Given the description of an element on the screen output the (x, y) to click on. 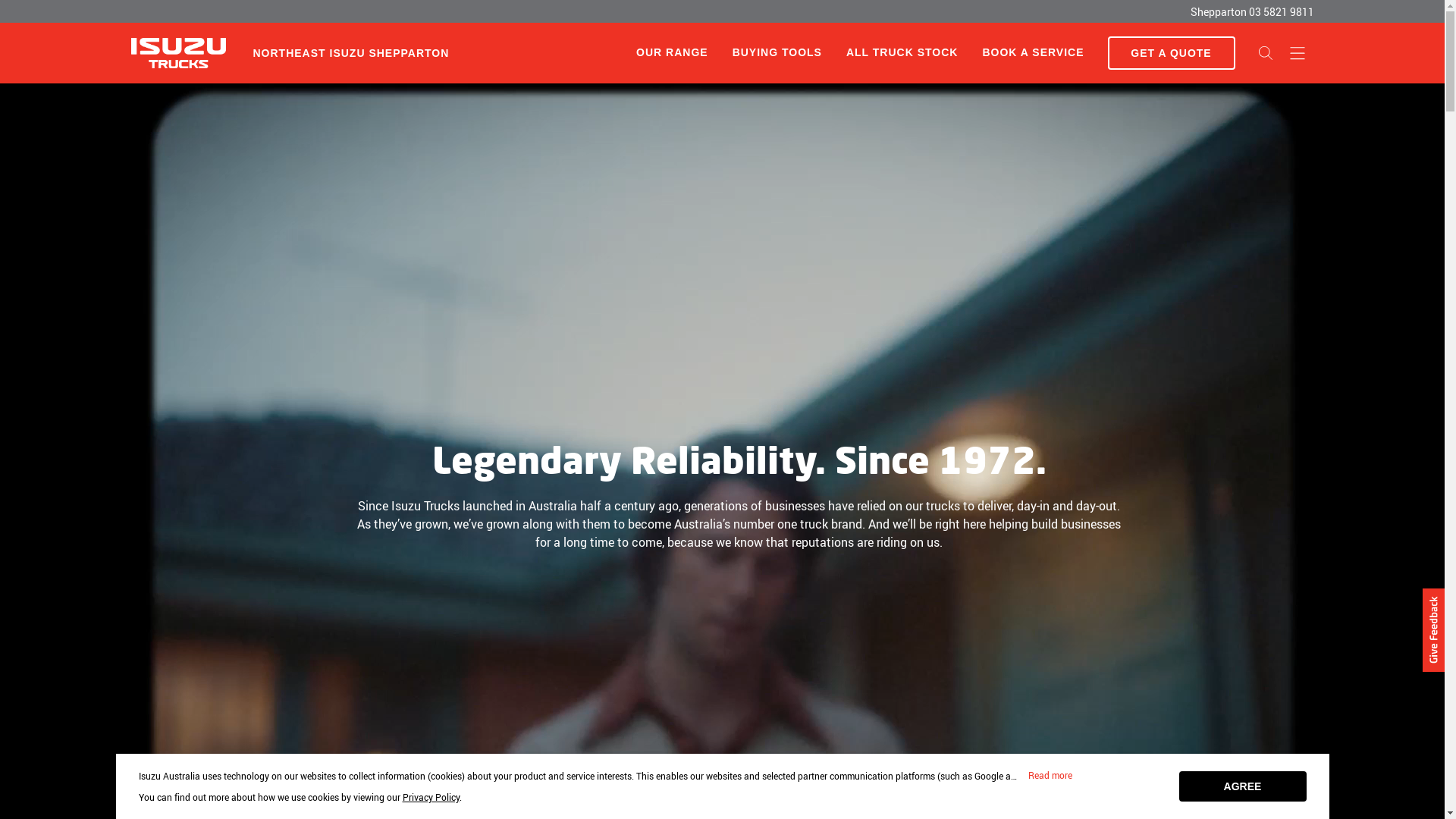
Privacy Policy Element type: text (429, 796)
BUYING TOOLS Element type: text (777, 52)
03 5821 9811 Element type: text (1280, 11)
AGREE Element type: text (1241, 786)
Read more Element type: text (1049, 775)
ALL TRUCK STOCK Element type: text (901, 52)
OUR RANGE Element type: text (672, 52)
BOOK A SERVICE Element type: text (1032, 52)
GET A QUOTE Element type: text (1170, 52)
